Given the description of an element on the screen output the (x, y) to click on. 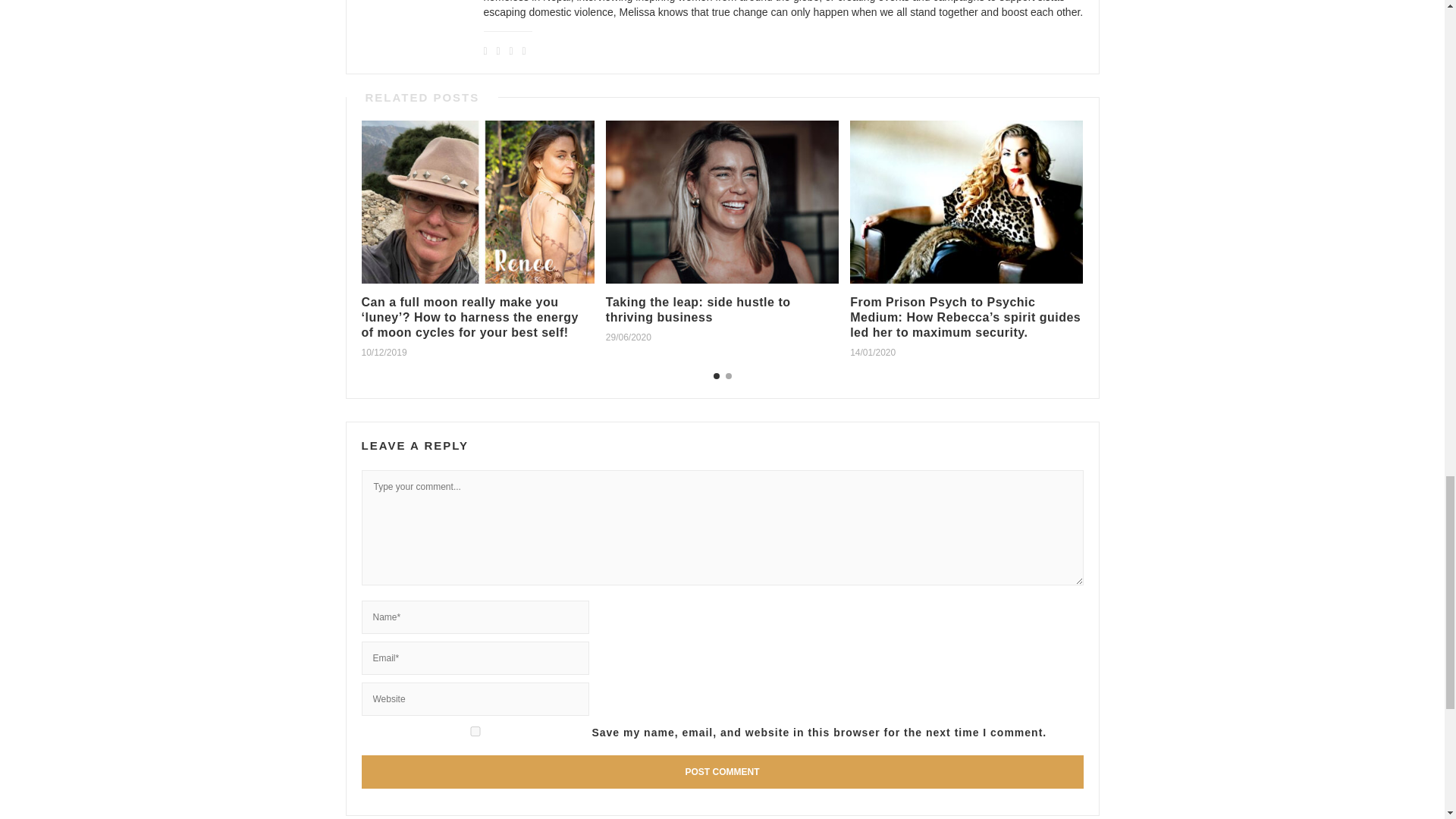
Post Comment (722, 771)
yes (474, 731)
